Given the description of an element on the screen output the (x, y) to click on. 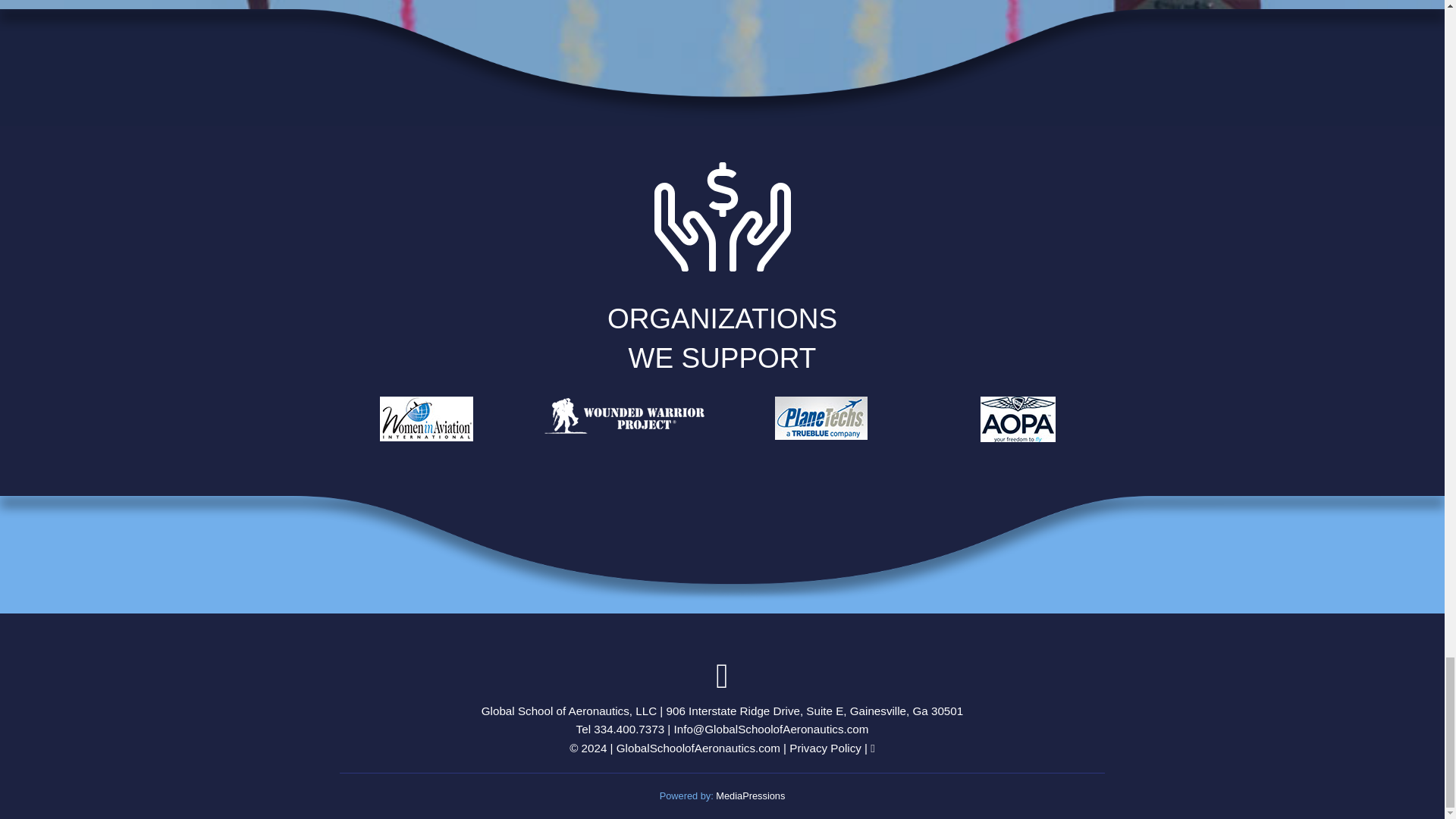
MediaPressions (750, 795)
Privacy Policy (825, 748)
Privacy Policy (825, 748)
334.400.7373 (628, 728)
